Given the description of an element on the screen output the (x, y) to click on. 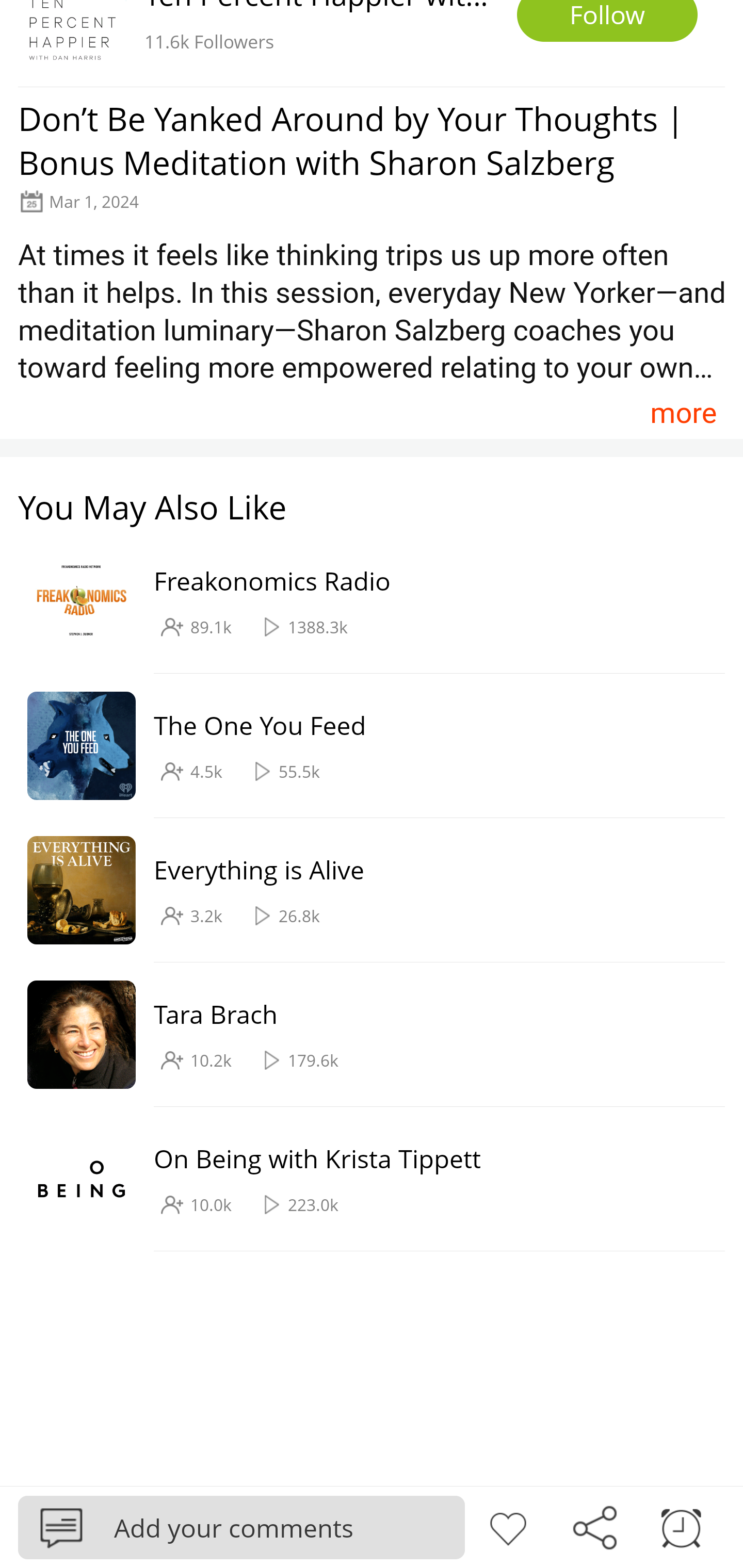
Follow (607, 21)
more (682, 412)
Freakonomics Radio 89.1k 1388.3k (362, 601)
The One You Feed 4.5k 55.5k (362, 746)
Everything is Alive 3.2k 26.8k (362, 890)
Tara Brach 10.2k 179.6k (362, 1034)
On Being with Krista Tippett 10.0k 223.0k (362, 1179)
Like (508, 1526)
Share (594, 1526)
Sleep timer (681, 1526)
Podbean Add your comments (241, 1526)
